Given the description of an element on the screen output the (x, y) to click on. 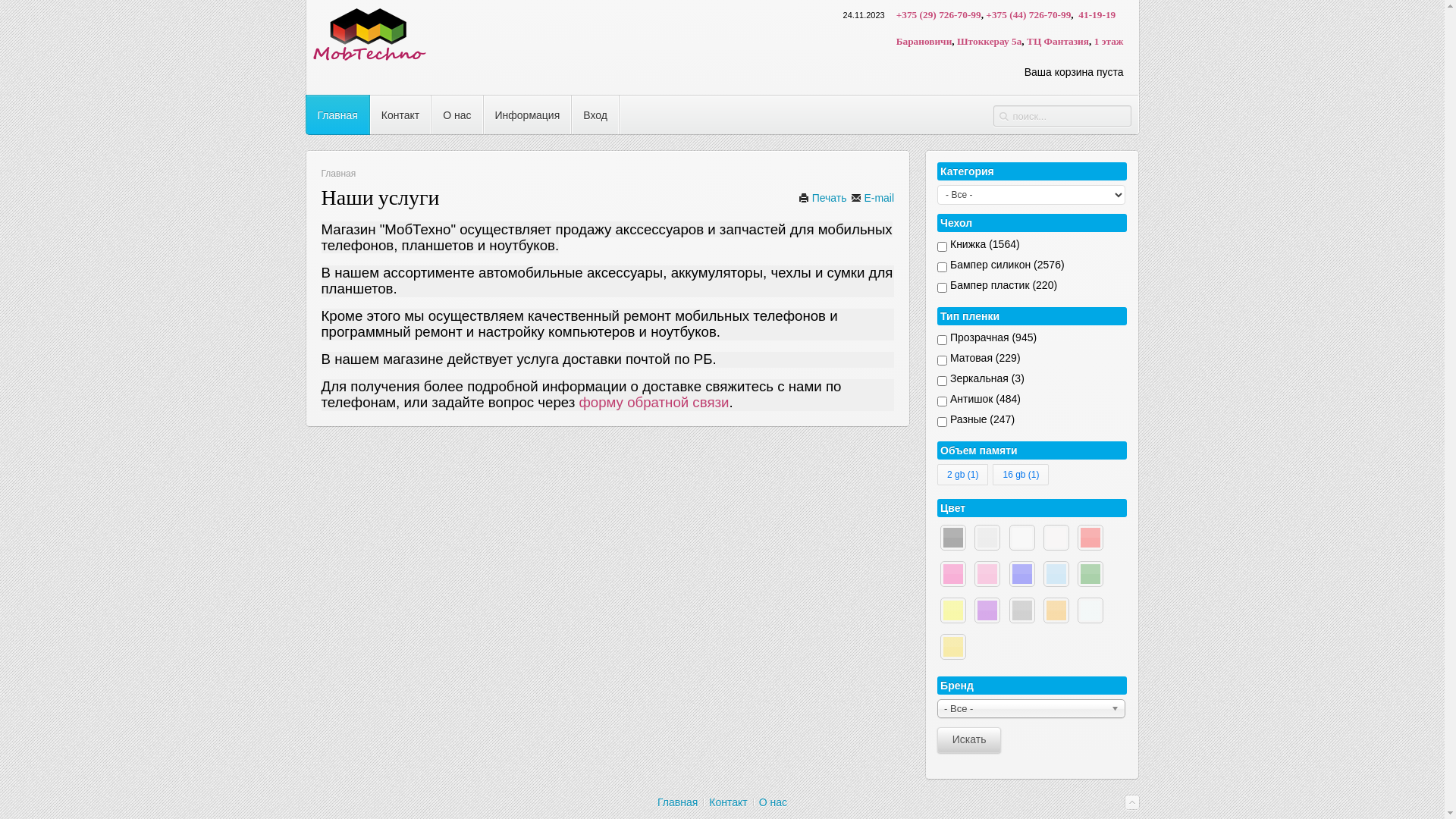
E-mail Element type: text (872, 197)
Reset Element type: text (3, 3)
